Given the description of an element on the screen output the (x, y) to click on. 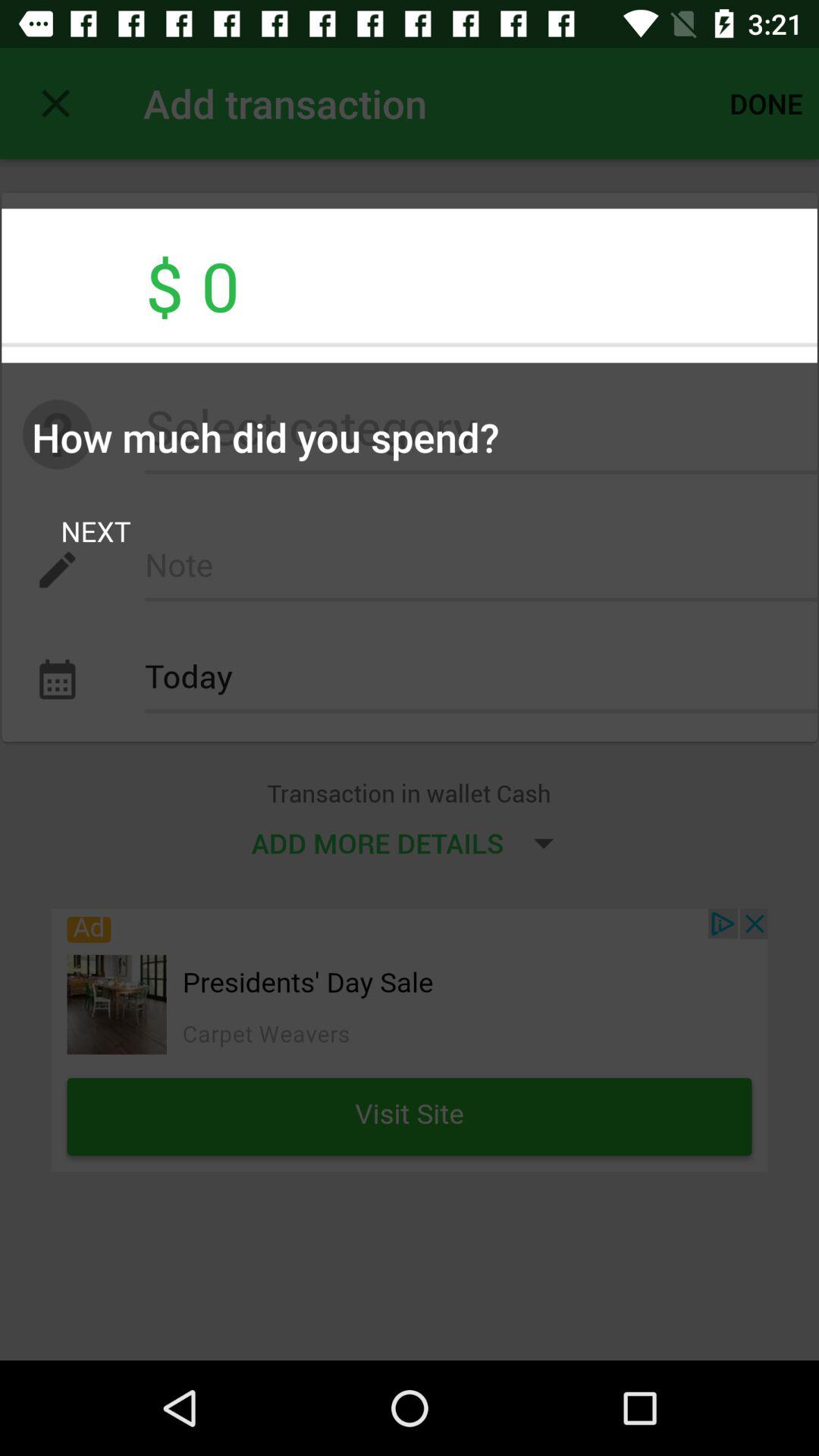
launch the item above the today item (481, 569)
